Given the description of an element on the screen output the (x, y) to click on. 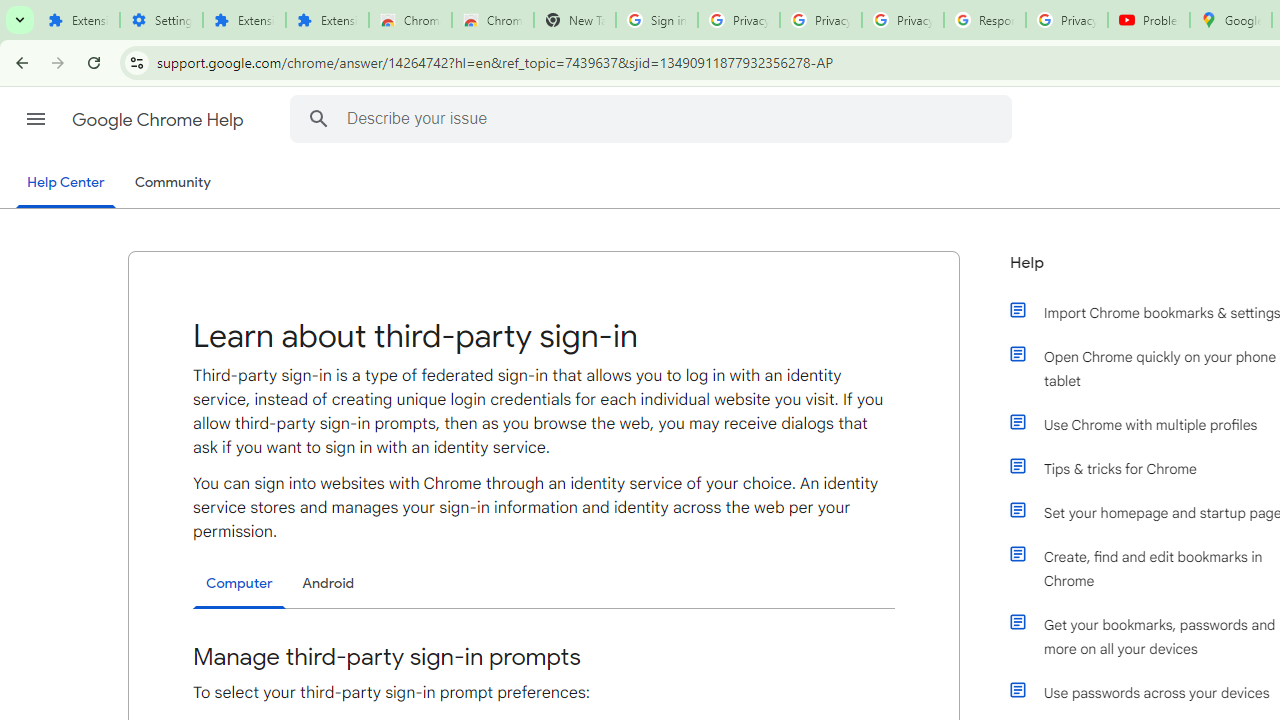
Community (171, 183)
Extensions (244, 20)
Computer (239, 584)
Android (328, 583)
Extensions (326, 20)
Chrome Web Store (409, 20)
Sign in - Google Accounts (656, 20)
Search Help Center (318, 118)
